Given the description of an element on the screen output the (x, y) to click on. 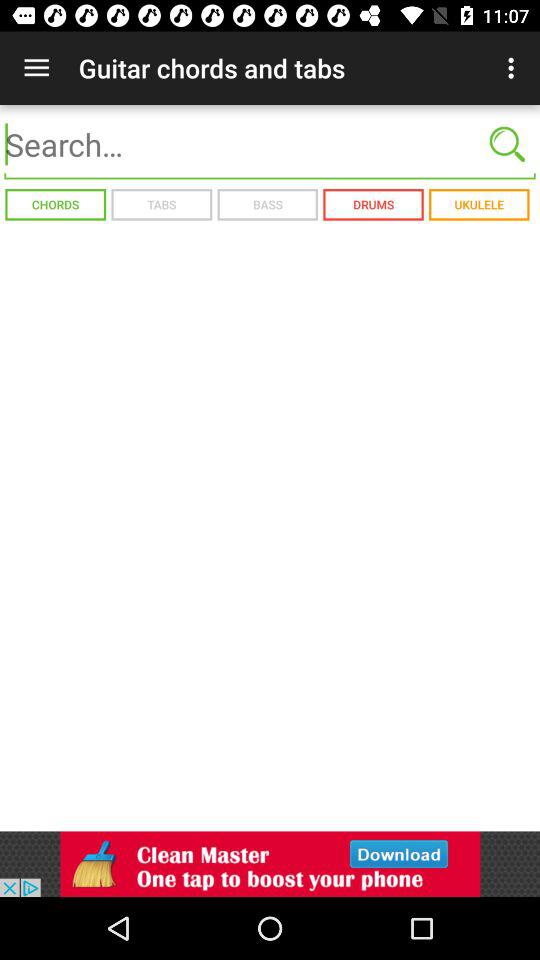
see more about advertisement (270, 864)
